Given the description of an element on the screen output the (x, y) to click on. 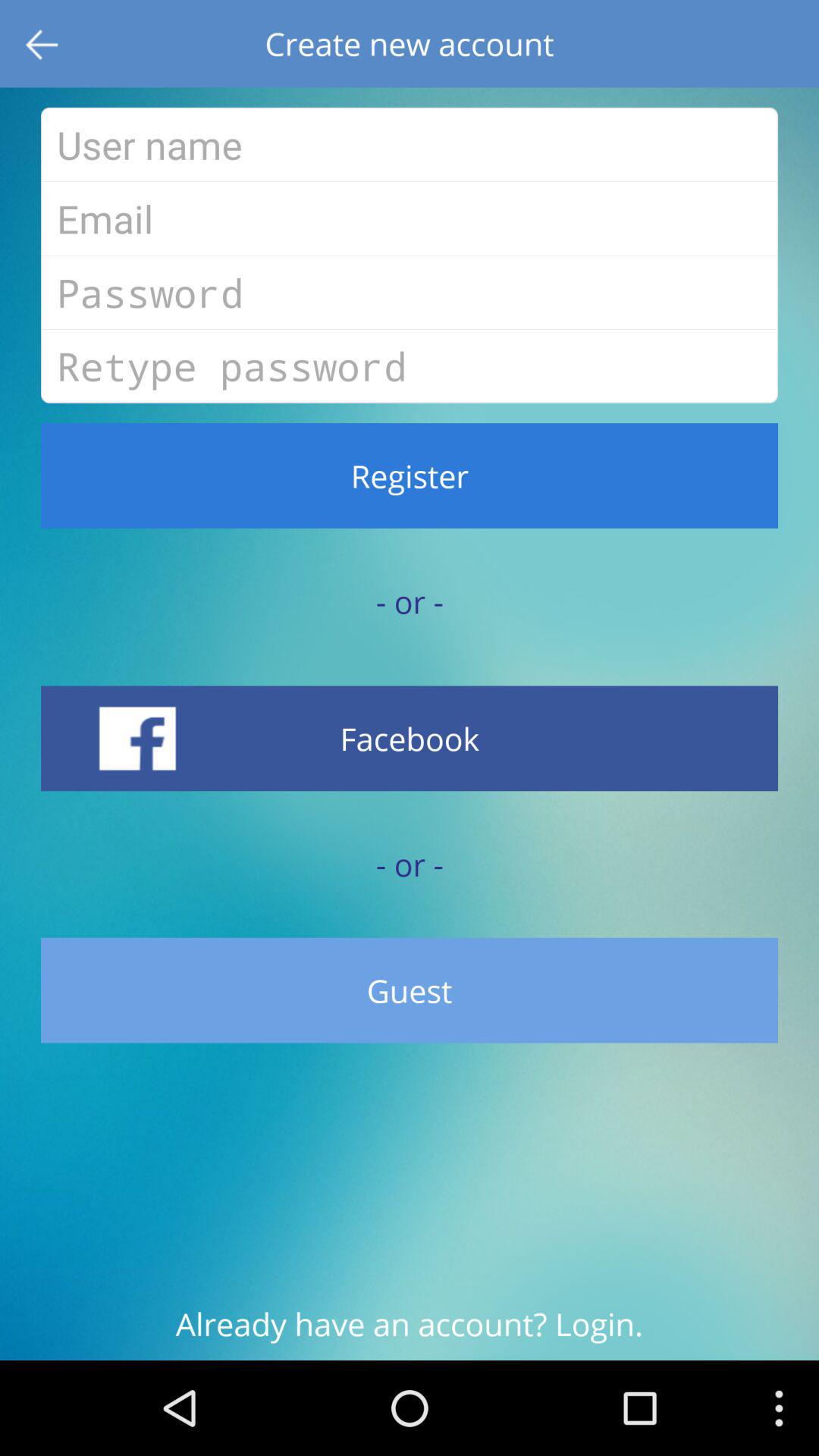
go back (43, 43)
